Given the description of an element on the screen output the (x, y) to click on. 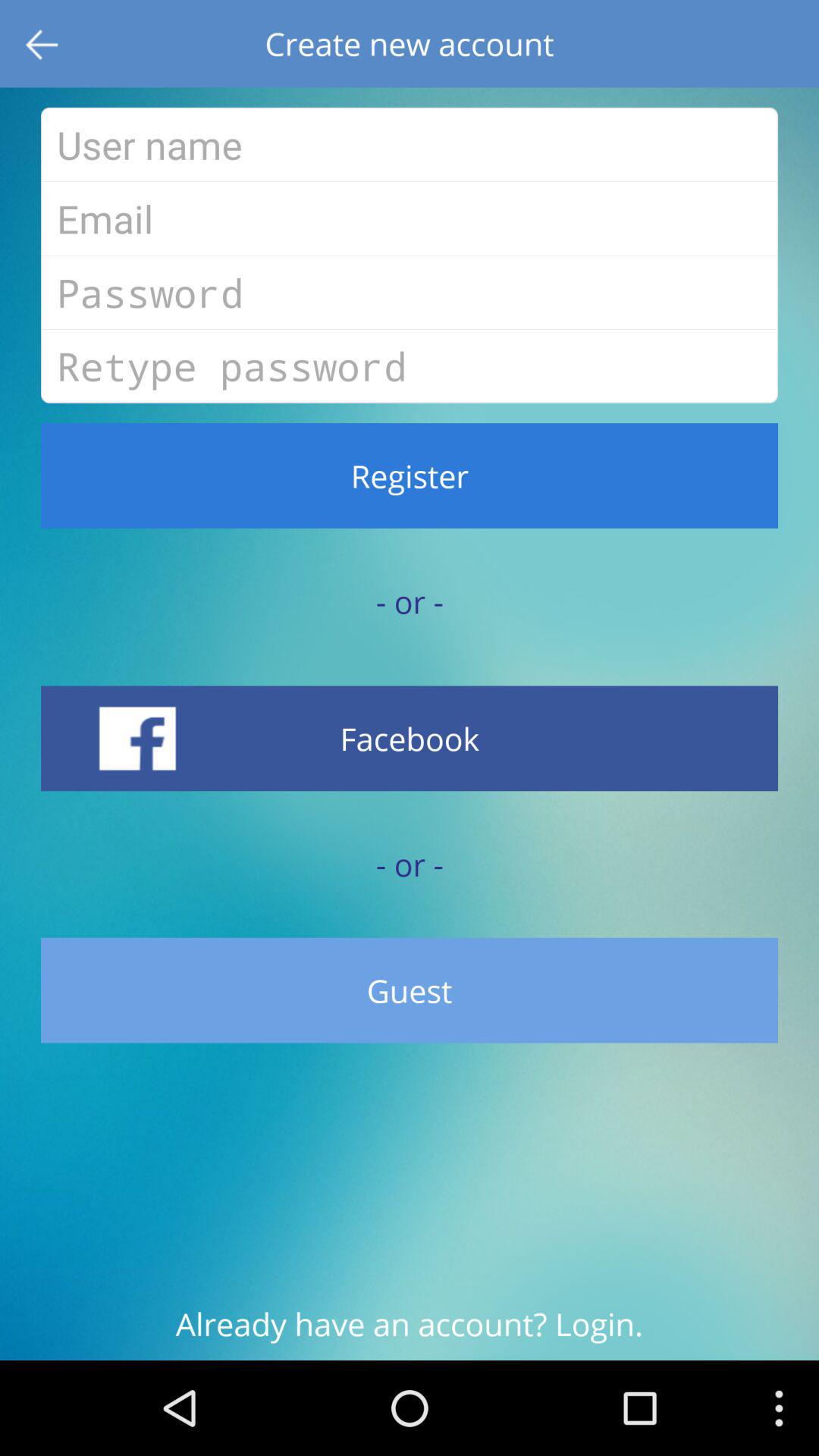
go back (43, 43)
